Given the description of an element on the screen output the (x, y) to click on. 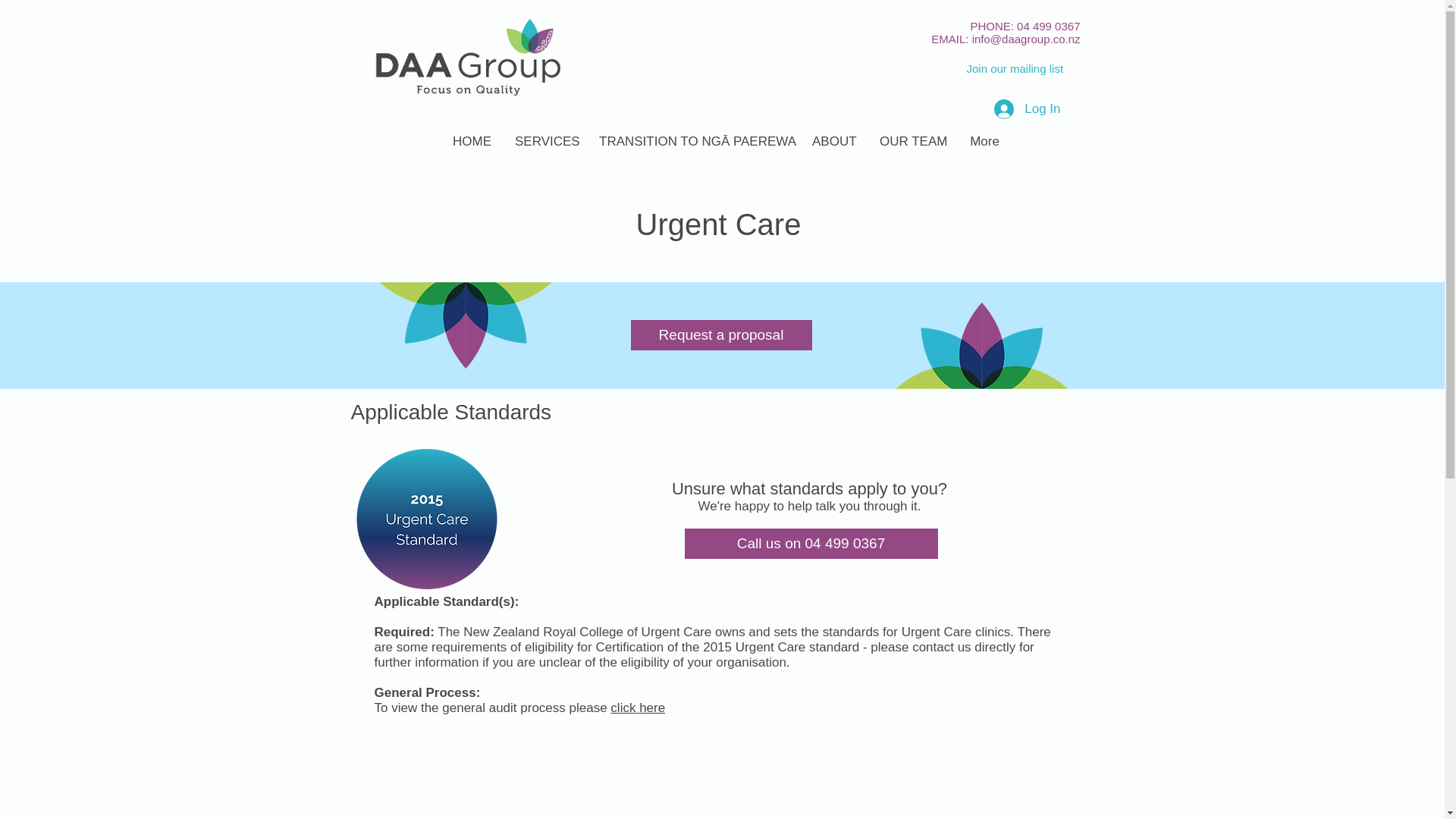
Log In (1027, 108)
Request a proposal (721, 335)
04 499 0367 (1048, 25)
Join our mailing list (1014, 68)
HOME (471, 140)
click here (637, 707)
OUR TEAM (911, 140)
